Given the description of an element on the screen output the (x, y) to click on. 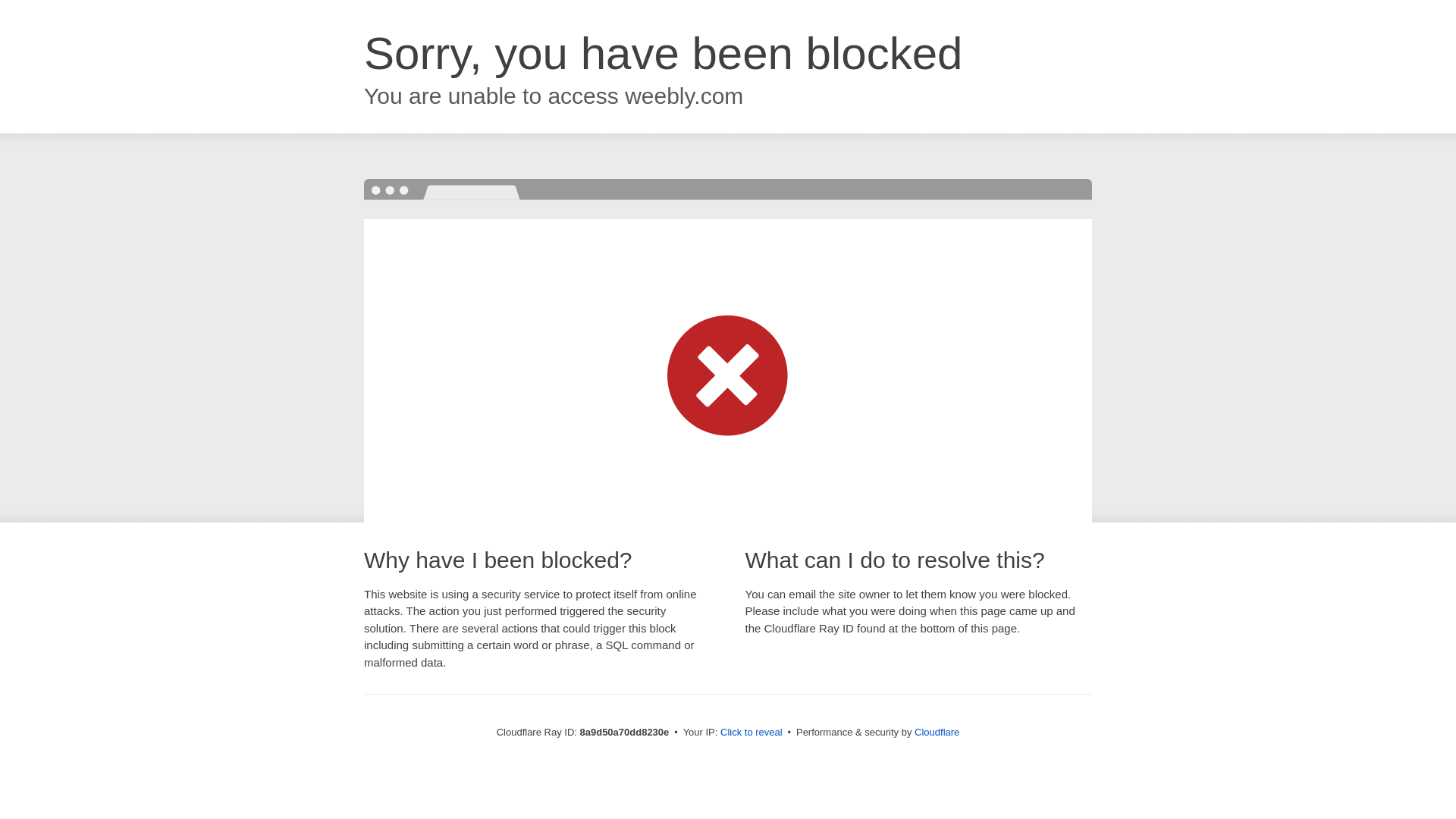
Cloudflare (936, 731)
Click to reveal (751, 732)
